Given the description of an element on the screen output the (x, y) to click on. 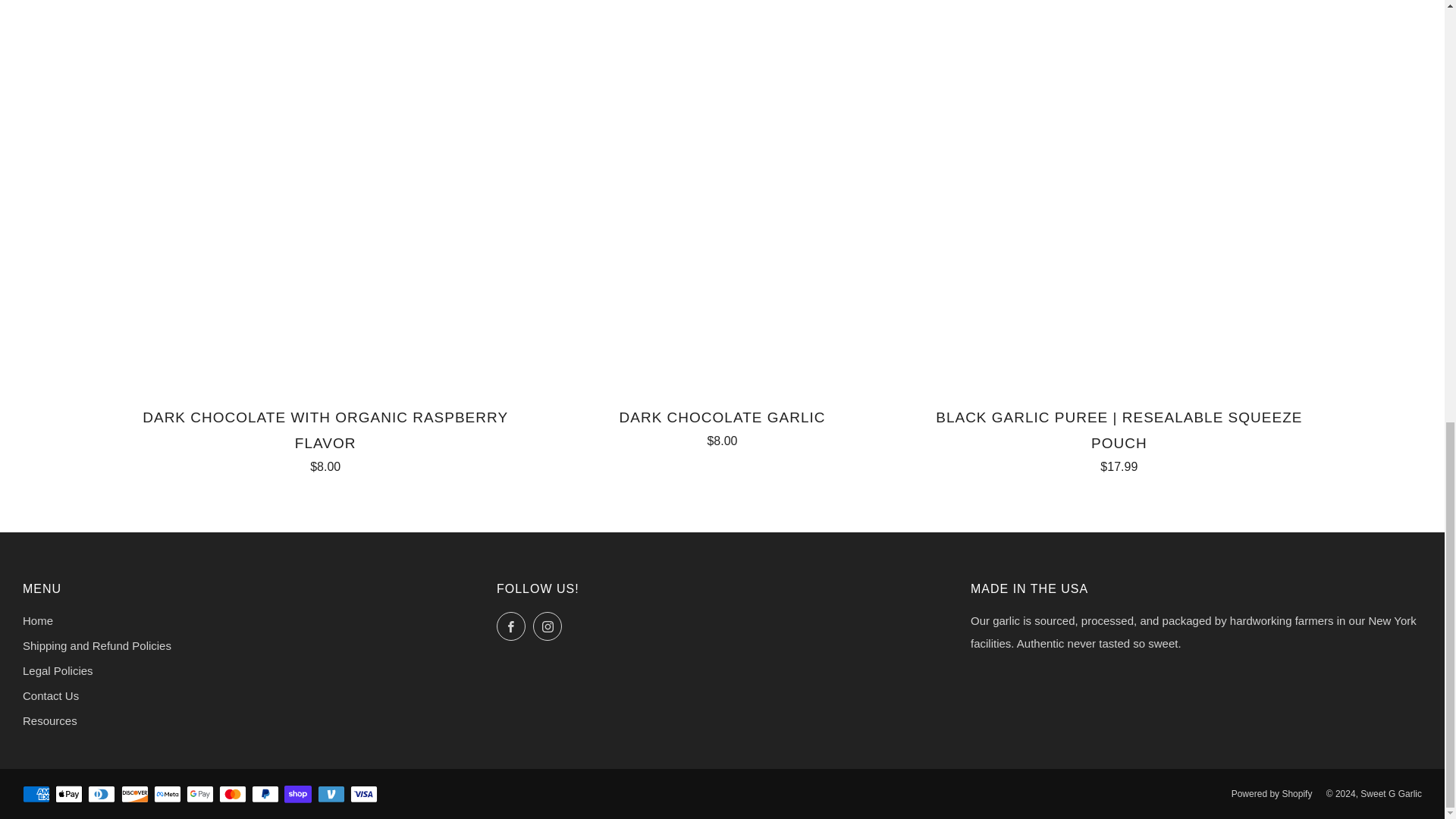
Dark Chocolate with Organic Raspberry Flavor (325, 438)
Dark Chocolate Garlic (721, 425)
